Given the description of an element on the screen output the (x, y) to click on. 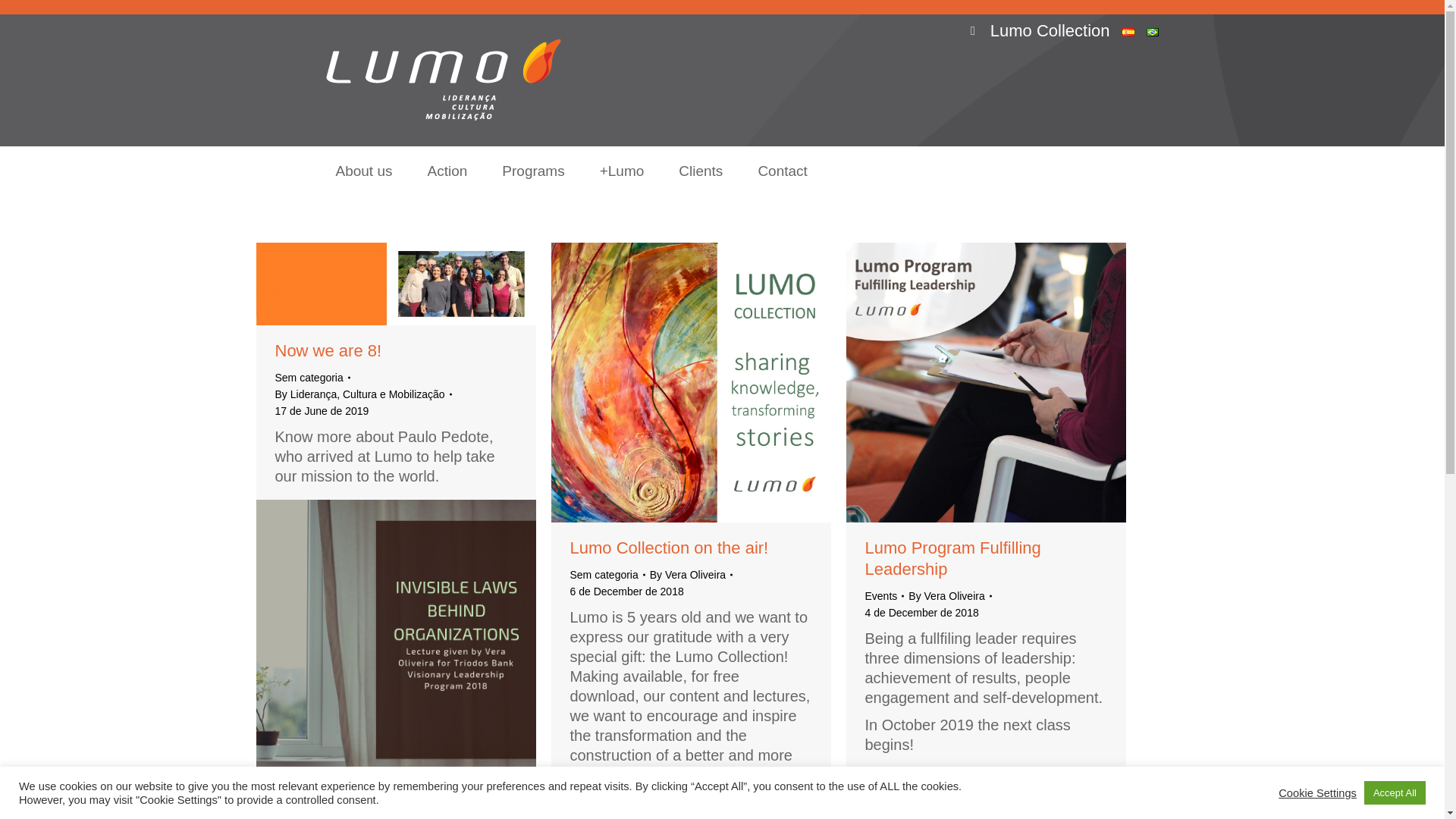
About us (364, 171)
Contact (781, 171)
Capa video (395, 639)
Lumo Program  Fulfilling Leadership (952, 558)
View all posts by Vera Oliveira (690, 574)
Action (446, 171)
16:18 (627, 591)
Clients (699, 171)
Socios Daniel e Gudrun 2 (395, 283)
15:22 (921, 612)
Go! (23, 15)
View all posts by Vera Oliveira (949, 596)
Programs (532, 171)
Lumo Collection on the air! (669, 547)
Now we are 8! (328, 350)
